Given the description of an element on the screen output the (x, y) to click on. 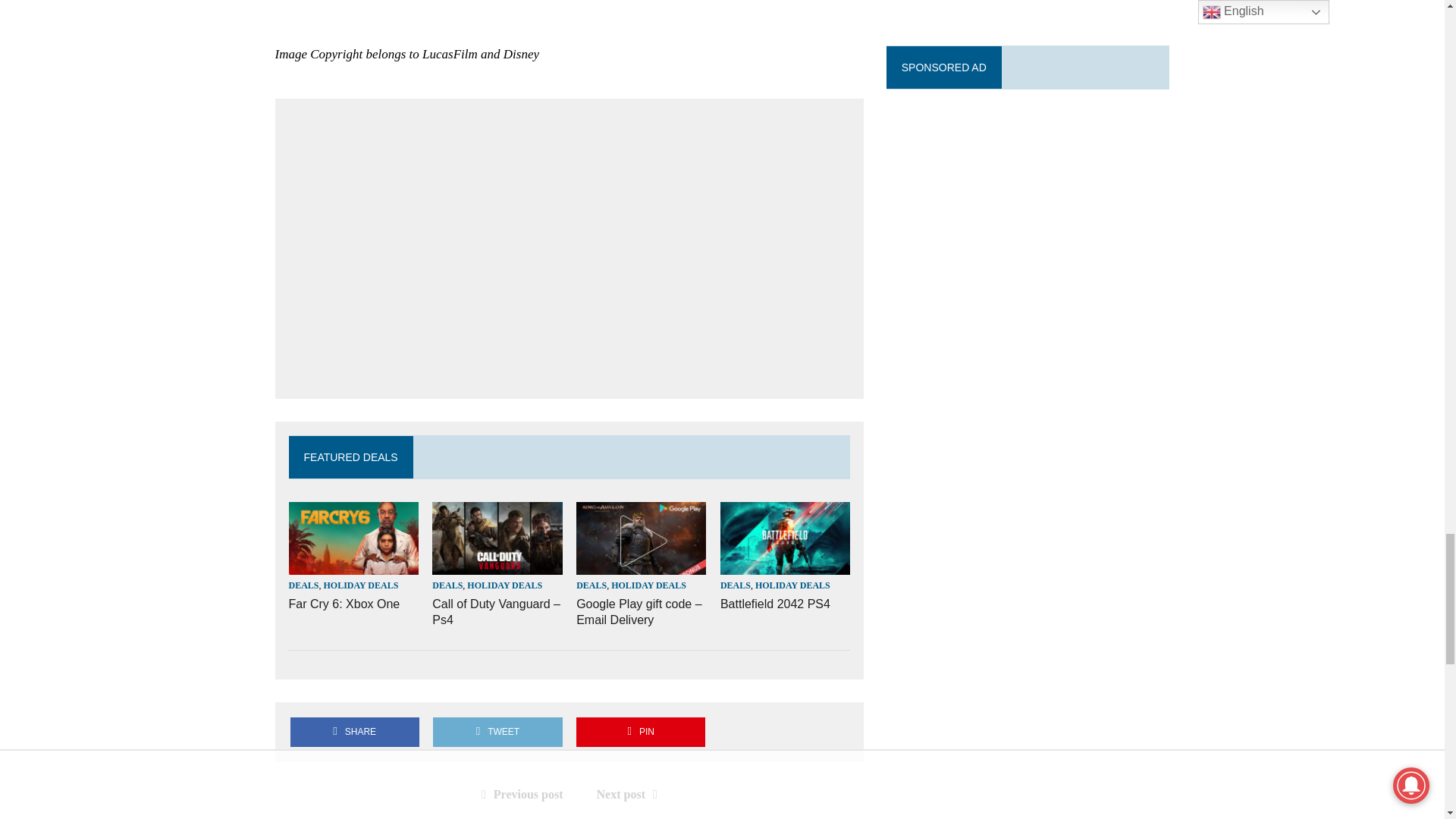
Far Cry 6: Xbox One (343, 603)
Far Cry 6: Xbox One (352, 563)
